Given the description of an element on the screen output the (x, y) to click on. 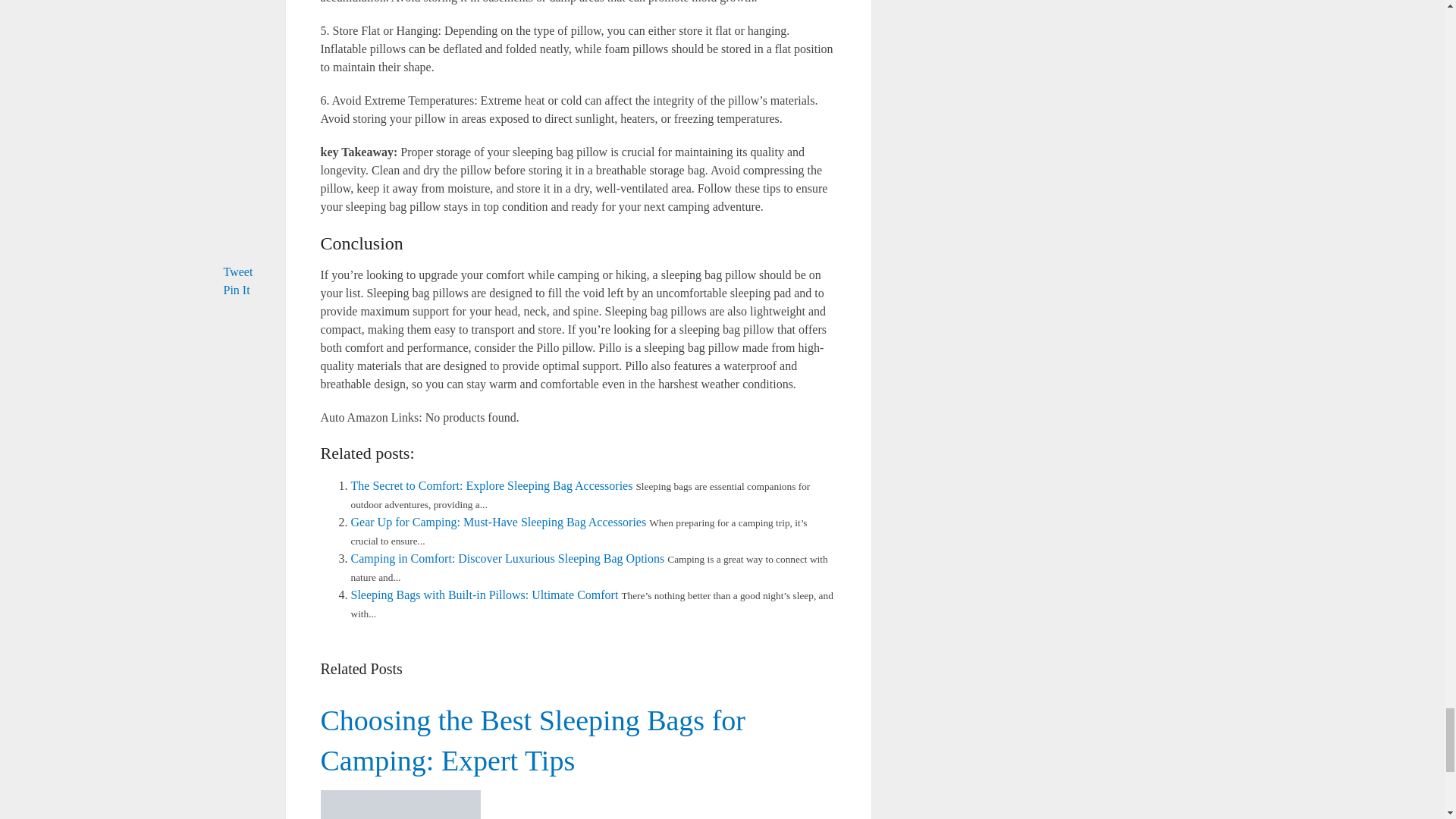
Important Features to Look for in a Sleeping Bag 1 (400, 804)
Choosing the Best Sleeping Bags for Camping: Expert Tips (532, 740)
Important Features to Look for in a Sleeping Bag (577, 760)
The Secret to Comfort: Explore Sleeping Bag Accessories (490, 485)
The Secret to Comfort: Explore Sleeping Bag Accessories (490, 485)
Sleeping Bags with Built-in Pillows: Ultimate Comfort (483, 594)
Gear Up for Camping: Must-Have Sleeping Bag Accessories (498, 521)
Camping in Comfort: Discover Luxurious Sleeping Bag Options (506, 558)
Gear Up for Camping: Must-Have Sleeping Bag Accessories (498, 521)
